Given the description of an element on the screen output the (x, y) to click on. 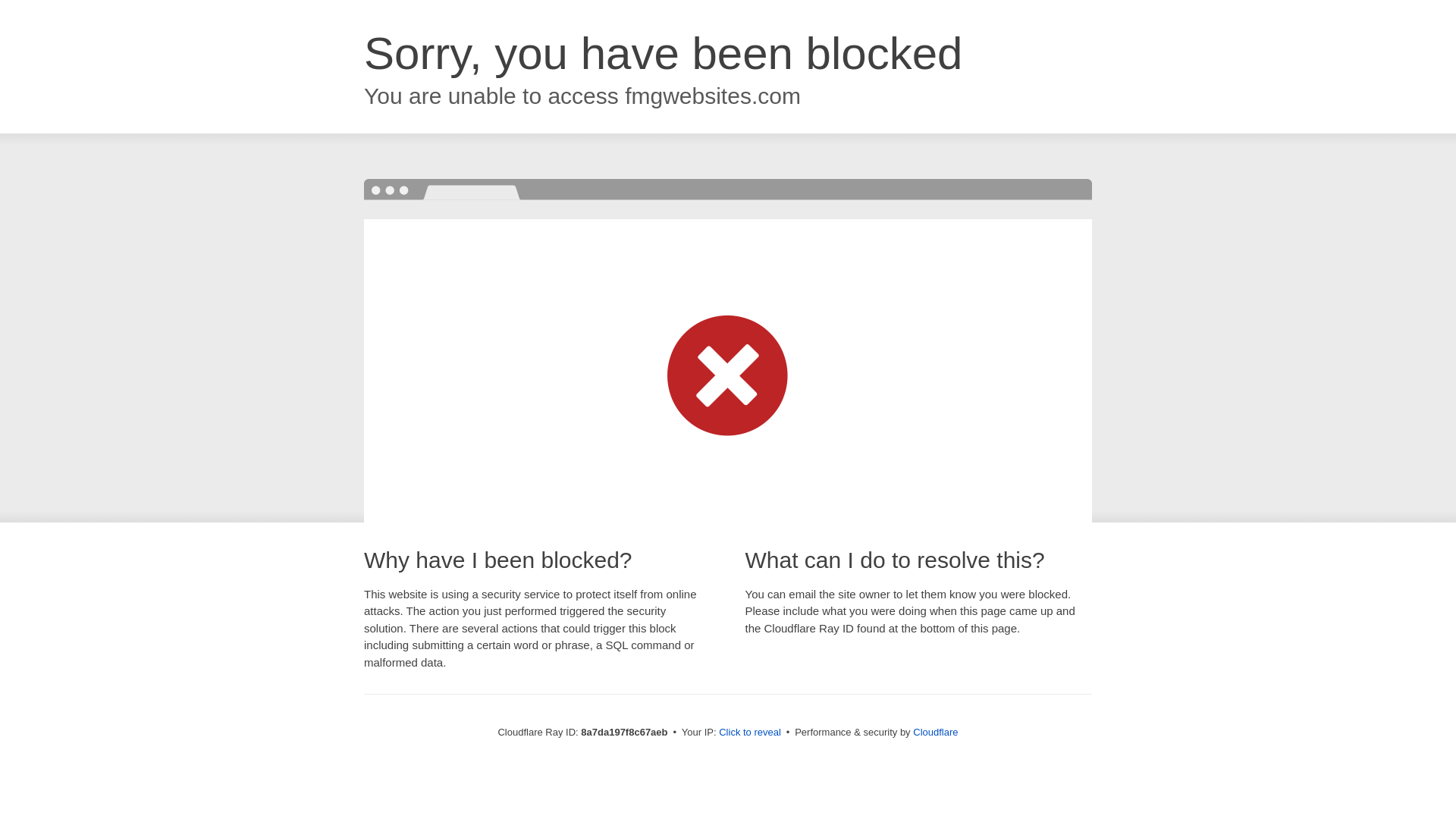
Cloudflare (935, 731)
Click to reveal (749, 732)
